Given the description of an element on the screen output the (x, y) to click on. 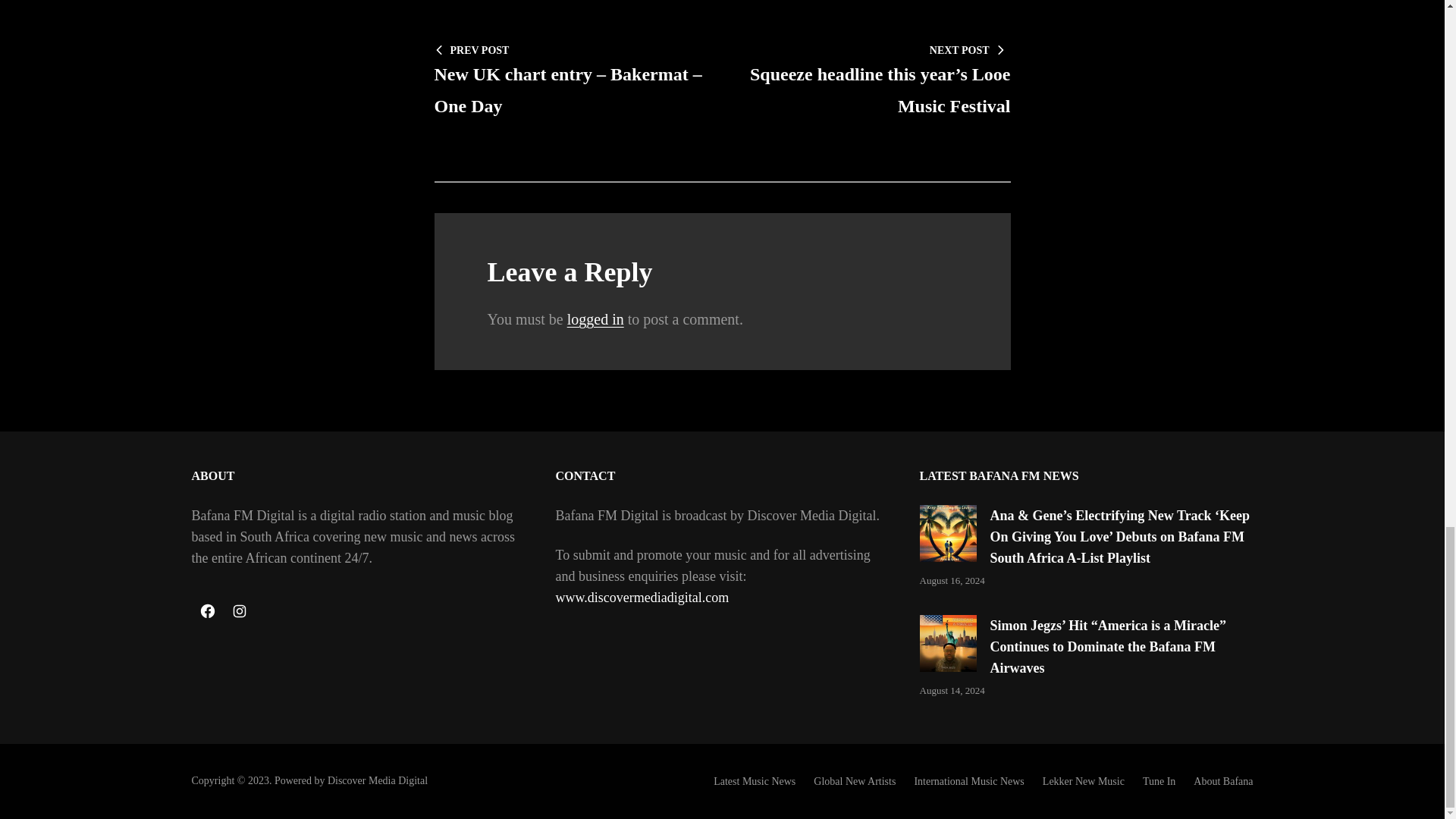
Discover Media Digital (377, 780)
Facebook (206, 611)
Instagram (238, 611)
logged in (595, 319)
www.discovermediadigital.com (641, 597)
